Given the description of an element on the screen output the (x, y) to click on. 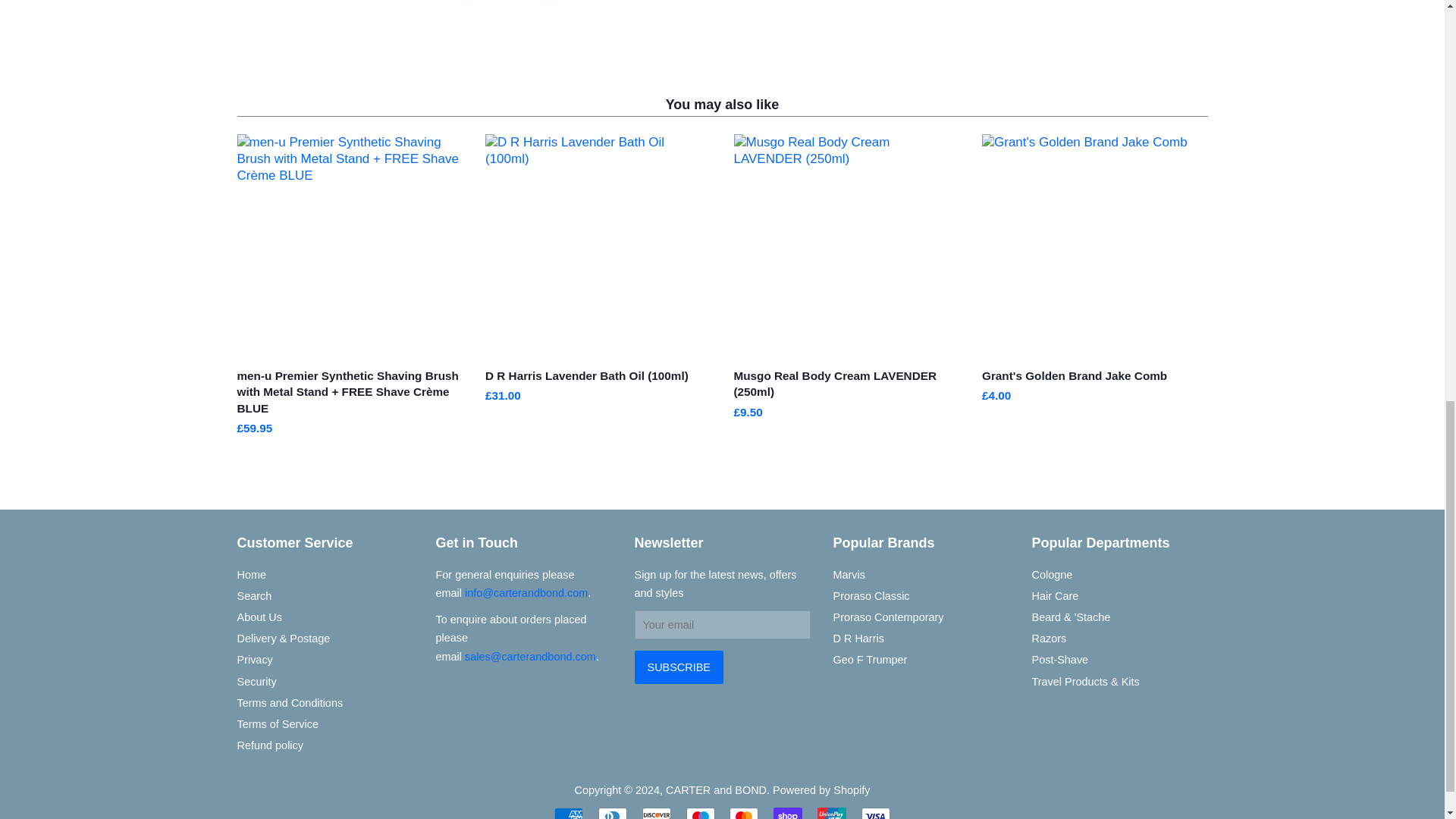
American Express (568, 813)
Discover (656, 813)
Maestro (699, 813)
Diners Club (612, 813)
Mastercard (743, 813)
Union Pay (830, 813)
Subscribe (677, 666)
Visa (875, 813)
Shop Pay (787, 813)
